Given the description of an element on the screen output the (x, y) to click on. 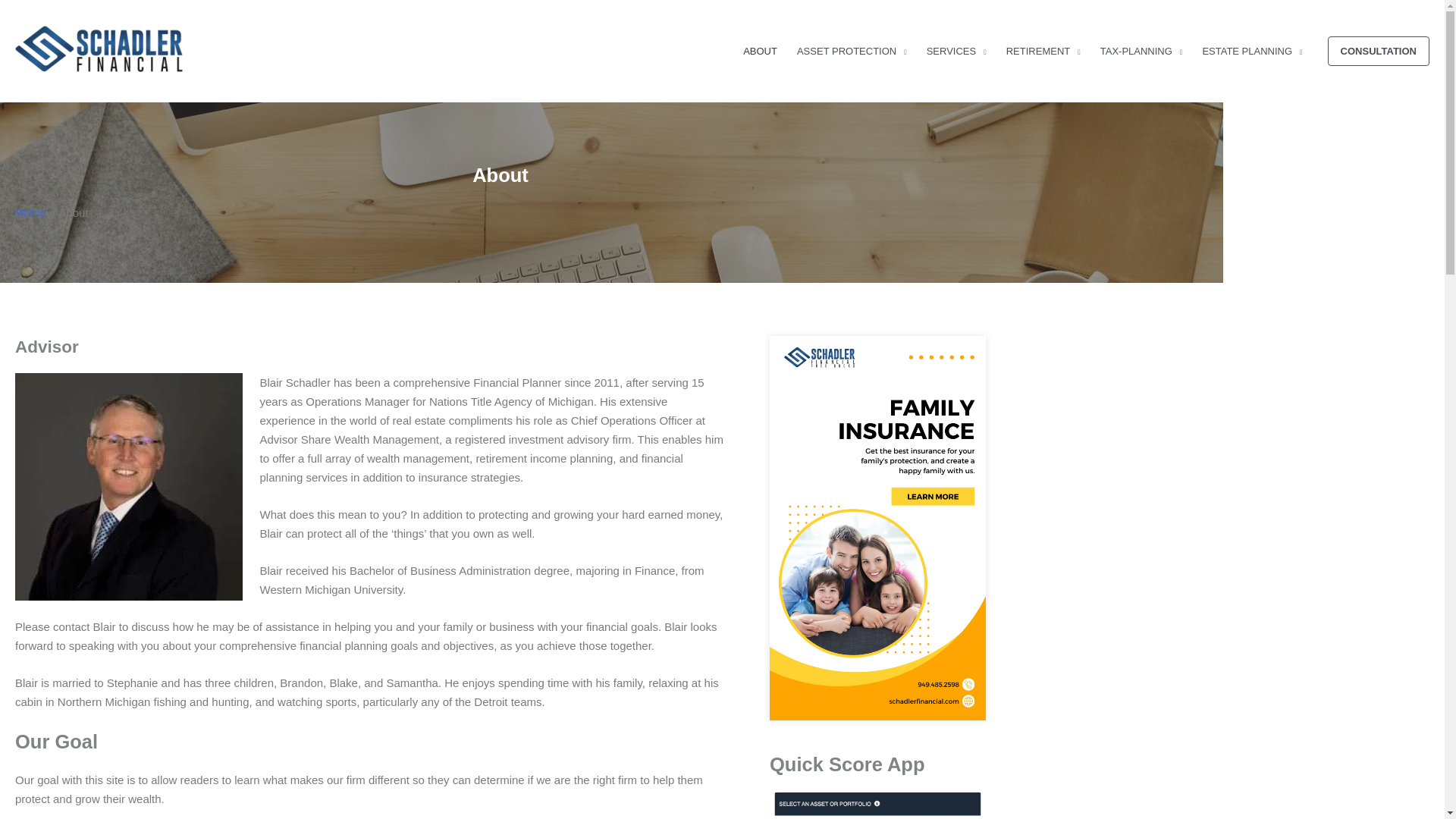
SERVICES (956, 51)
Quick Score App (877, 805)
ASSET PROTECTION (852, 51)
RETIREMENT (1042, 51)
TAX-PLANNING (1141, 51)
ABOUT (760, 51)
